Given the description of an element on the screen output the (x, y) to click on. 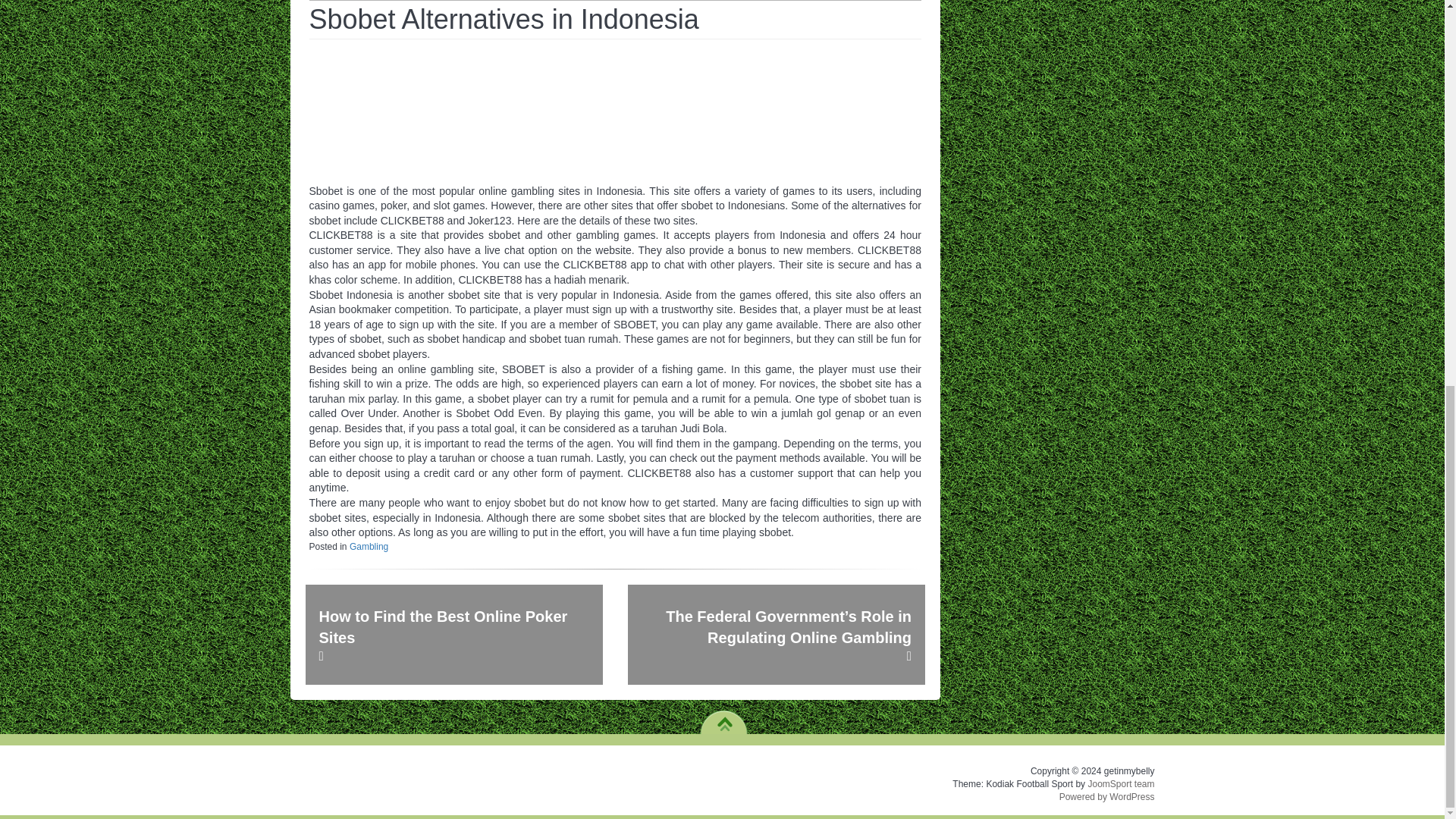
 The Best WordPress Sport Plugin for your league and club  (1120, 783)
Gambling (368, 546)
How to Find the Best Online Poker Sites (453, 634)
